Given the description of an element on the screen output the (x, y) to click on. 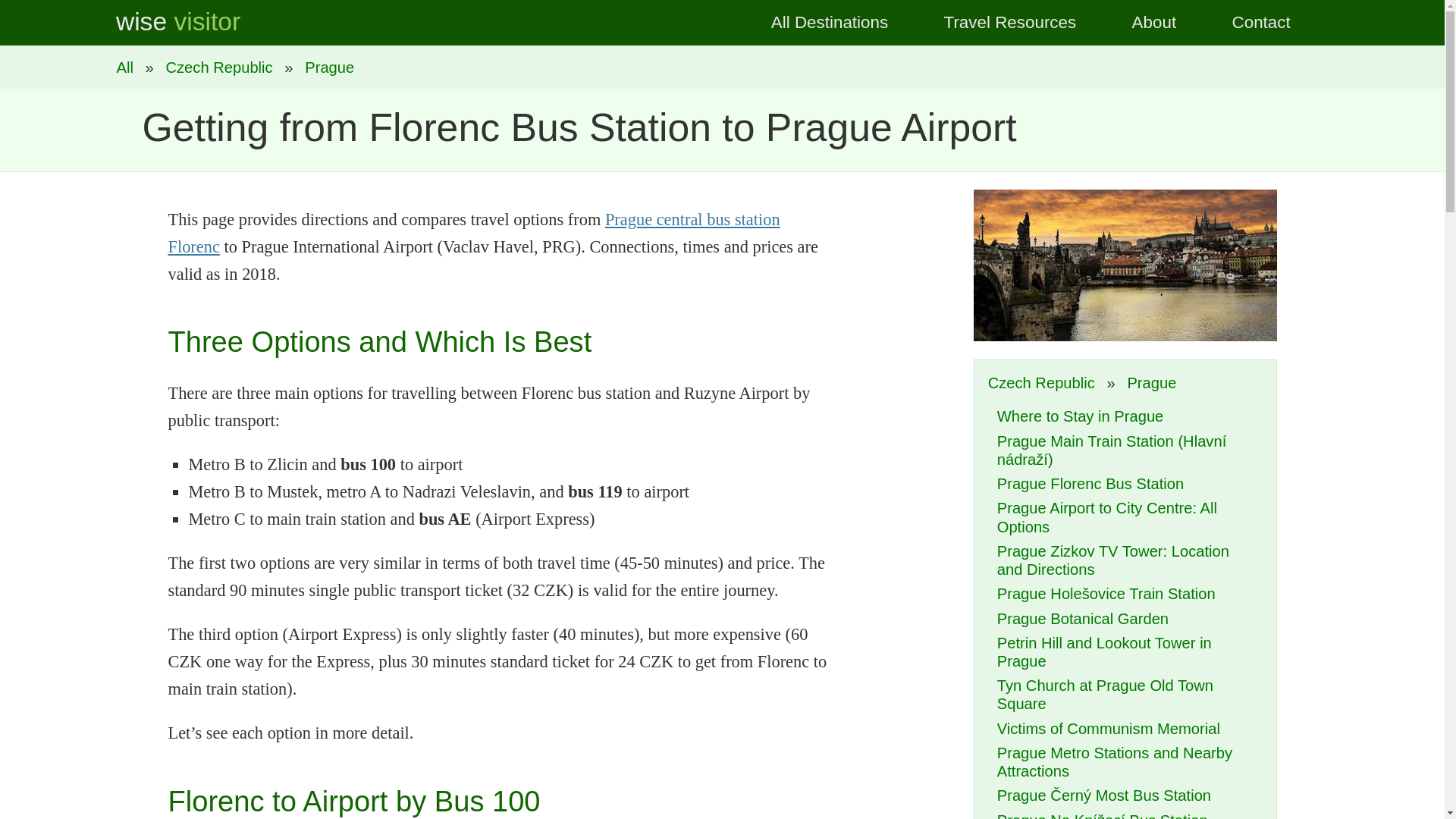
Prague central bus station Florenc (474, 232)
Tyn Church at Prague Old Town Square (1104, 694)
Czech Republic (218, 67)
Where to Stay in Prague (1080, 416)
All (128, 67)
Prague Florenc Bus Station (1091, 483)
Prague (329, 67)
All Destinations (128, 67)
About (1154, 22)
Prague Florenc Bus Station (474, 232)
Czech Republic (1045, 382)
Petrin Hill and Lookout Tower in Prague (1104, 651)
Contact (1261, 22)
Prague Metro Stations and Nearby Attractions (1114, 761)
Prague Airport to City Centre: All Options (1107, 516)
